Given the description of an element on the screen output the (x, y) to click on. 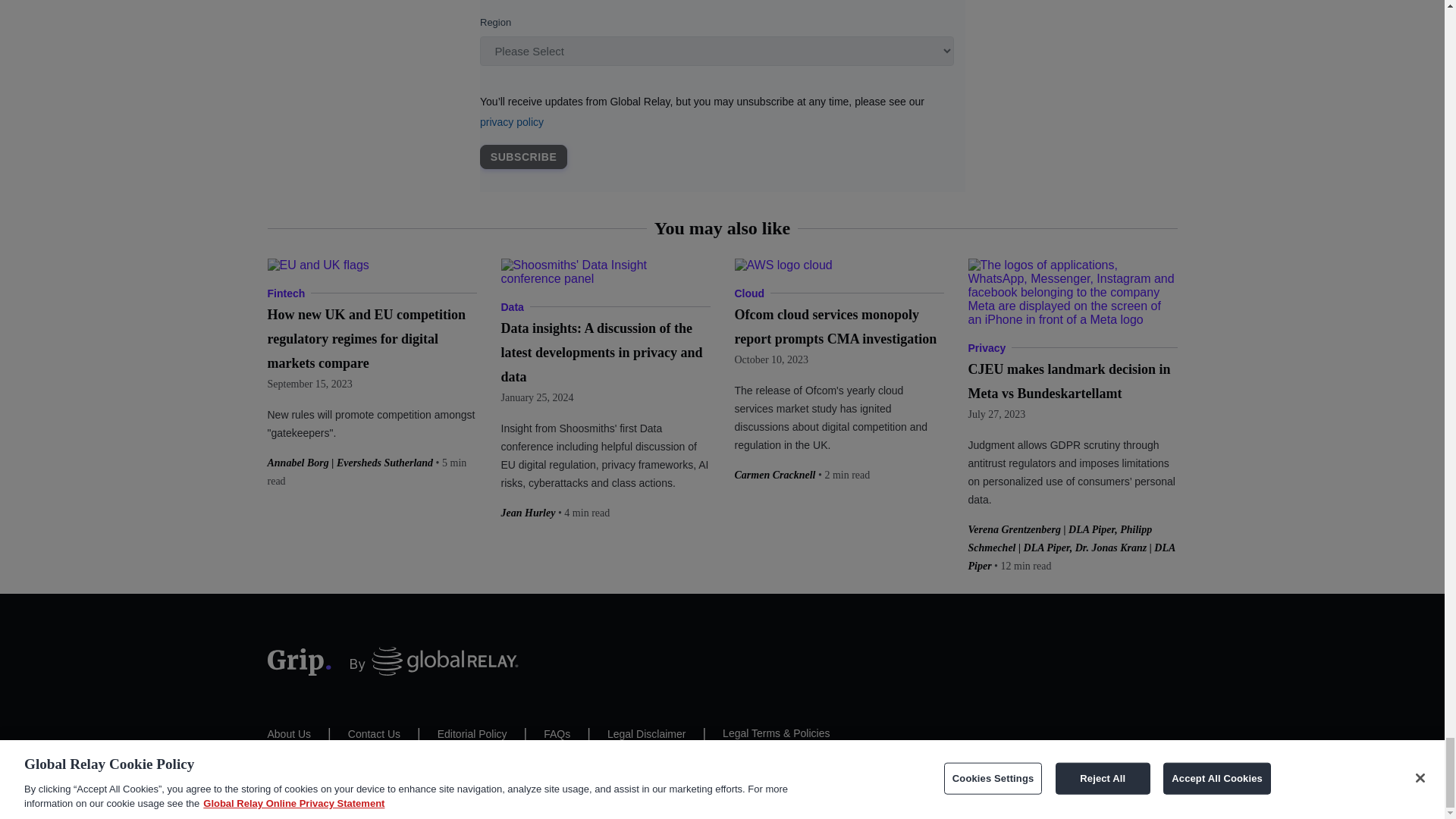
Grip newsletter Form (721, 95)
